Given the description of an element on the screen output the (x, y) to click on. 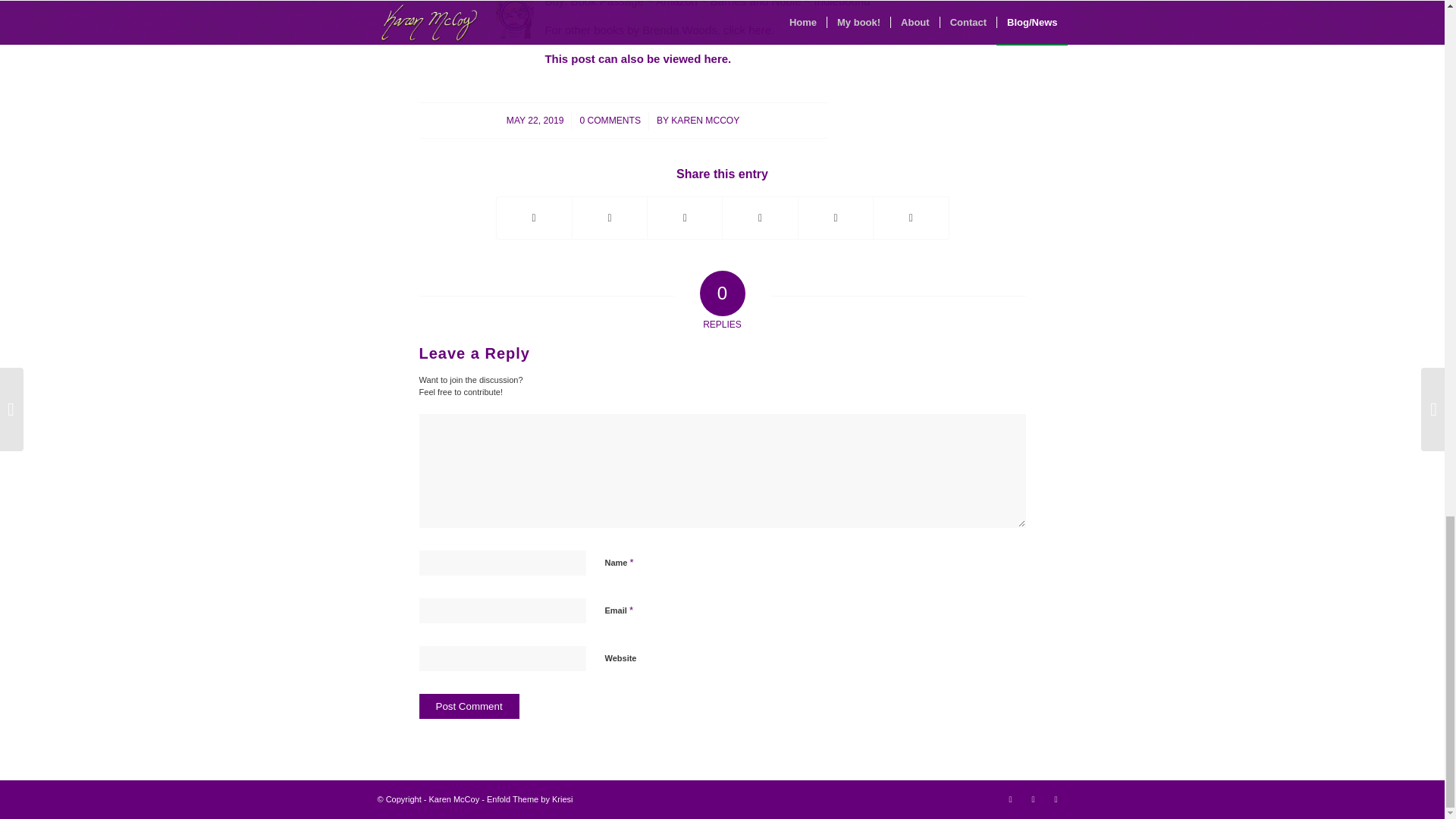
Enfold Theme by Kriesi (529, 798)
Book Passage (606, 3)
here. (761, 29)
Indiebound (841, 3)
KAREN MCCOY (705, 120)
Barnes and Noble (756, 3)
Facebook (1056, 798)
here (715, 58)
Twitter (1033, 798)
Instagram (1010, 798)
0 COMMENTS (609, 120)
Posts by Karen McCoy (705, 120)
Post Comment (468, 706)
Post Comment (468, 706)
Karen McCoy (454, 798)
